Given the description of an element on the screen output the (x, y) to click on. 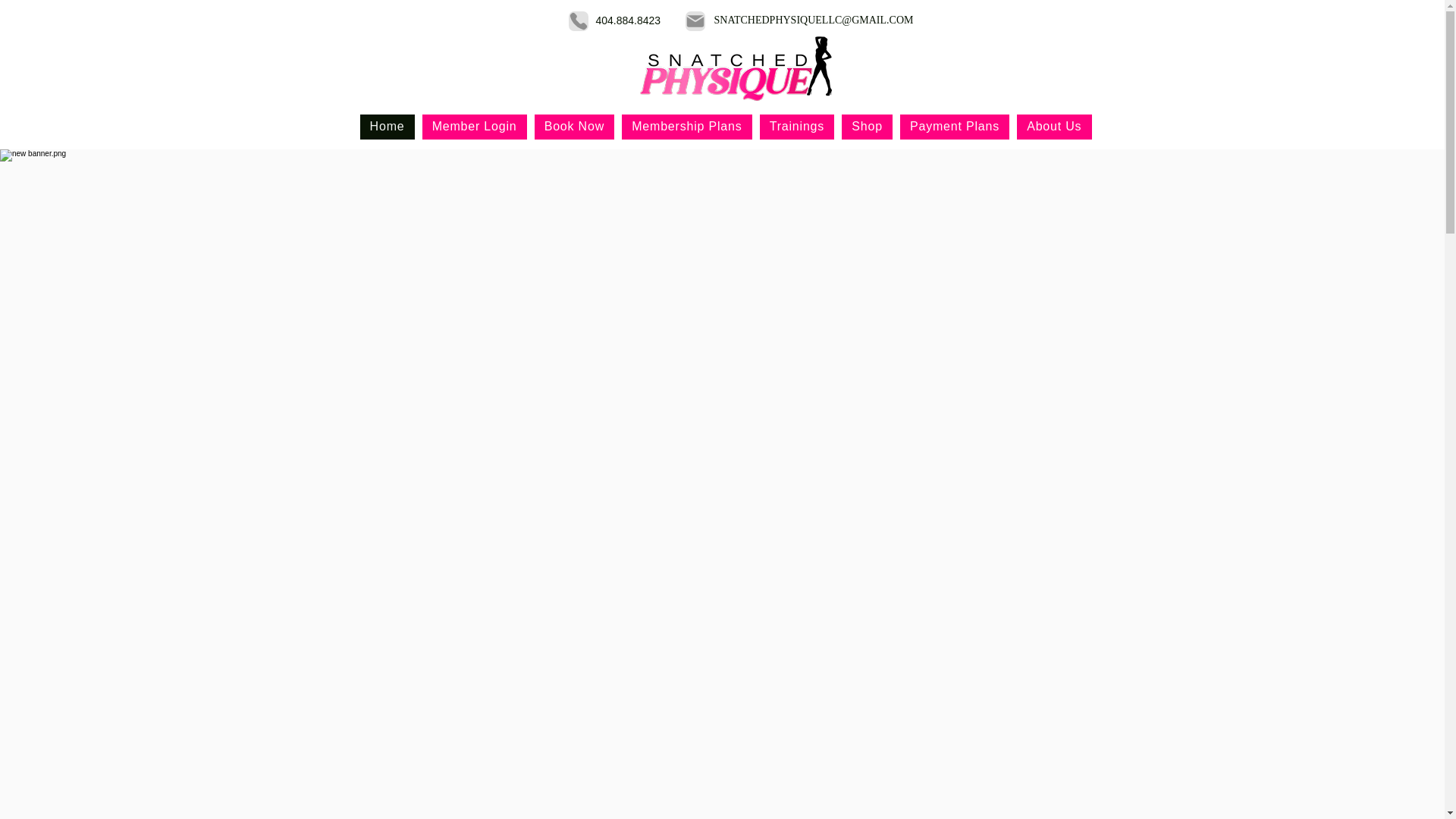
About Us (1054, 126)
Membership Plans (686, 126)
Shop (867, 126)
Home (386, 126)
Book Now (574, 126)
Payment Plans (954, 126)
Member Login (474, 126)
Trainings (796, 126)
logo.png (735, 68)
